Given the description of an element on the screen output the (x, y) to click on. 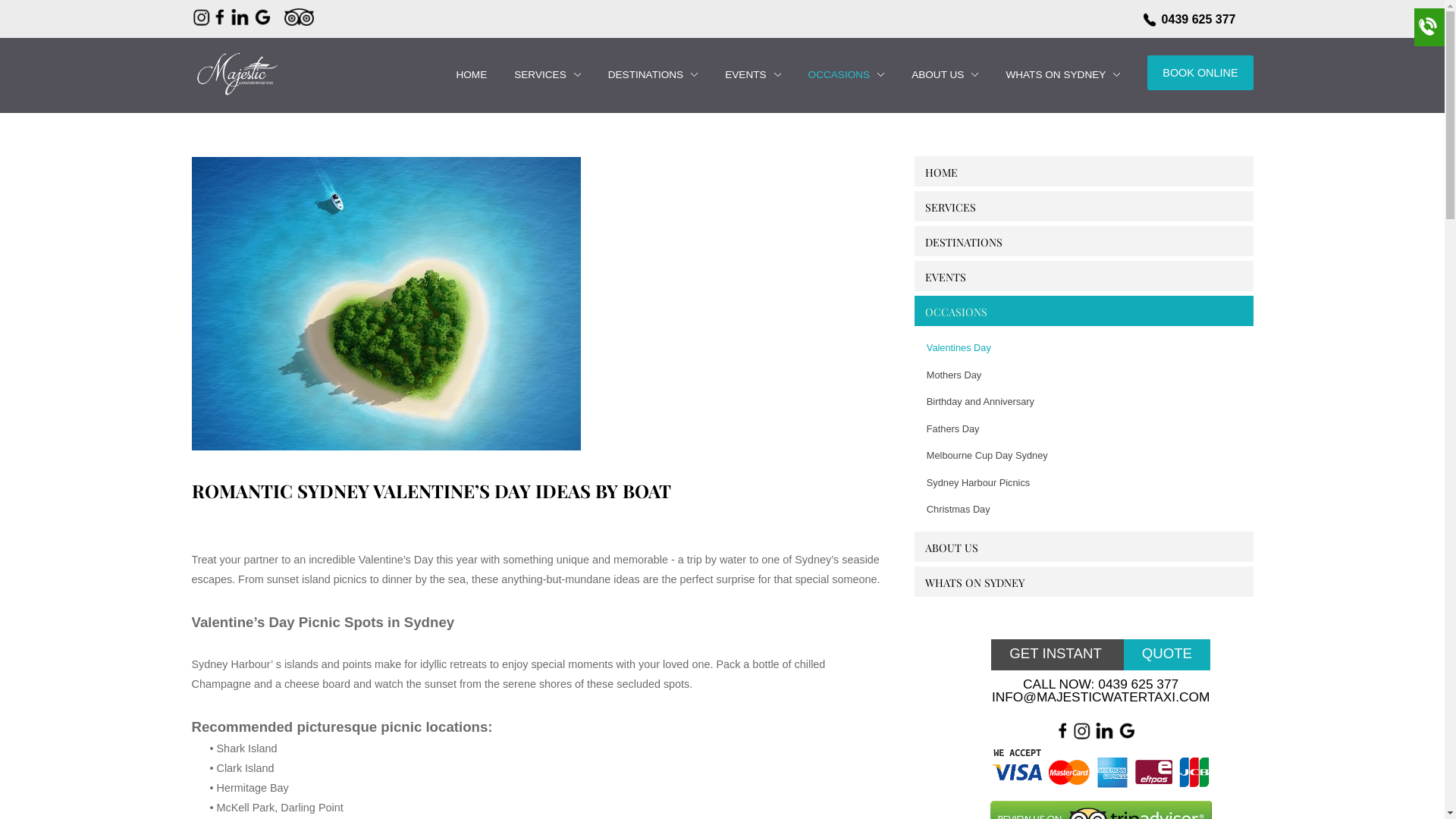
HOME Element type: text (941, 172)
Majestic Water Taxis Element type: hover (235, 72)
SERVICES Element type: text (547, 74)
Fathers Day Element type: text (1100, 428)
HOME Element type: text (470, 74)
OCCASIONS Element type: text (956, 311)
WHATS ON SYDNEY Element type: text (974, 582)
DESTINATIONS Element type: text (645, 74)
Sydney Harbour Picnics Element type: text (1100, 482)
ABOUT US Element type: text (944, 74)
EVENTS Element type: text (945, 276)
Valentines Day Element type: text (1100, 347)
Mothers Day Element type: text (1100, 375)
EVENTS Element type: text (752, 74)
DESTINATIONS Element type: text (652, 74)
ABOUT US Element type: text (937, 74)
BOOK ONLINE Element type: text (1199, 72)
GET INSTANT QUOTE Element type: text (1100, 654)
  Element type: text (235, 83)
SERVICES Element type: text (950, 207)
ABOUT US Element type: text (951, 547)
OCCASIONS Element type: text (839, 74)
Birthday and Anniversary Element type: text (1100, 401)
HOME Element type: text (470, 74)
EVENTS Element type: text (744, 74)
SERVICES Element type: text (540, 74)
Melbourne Cup Day Sydney Element type: text (1100, 455)
Christmas Day Element type: text (1100, 509)
DESTINATIONS Element type: text (963, 242)
WHATS ON SYDNEY Element type: text (1062, 74)
OCCASIONS Element type: text (846, 74)
WHATS ON SYDNEY Element type: text (1055, 74)
